Given the description of an element on the screen output the (x, y) to click on. 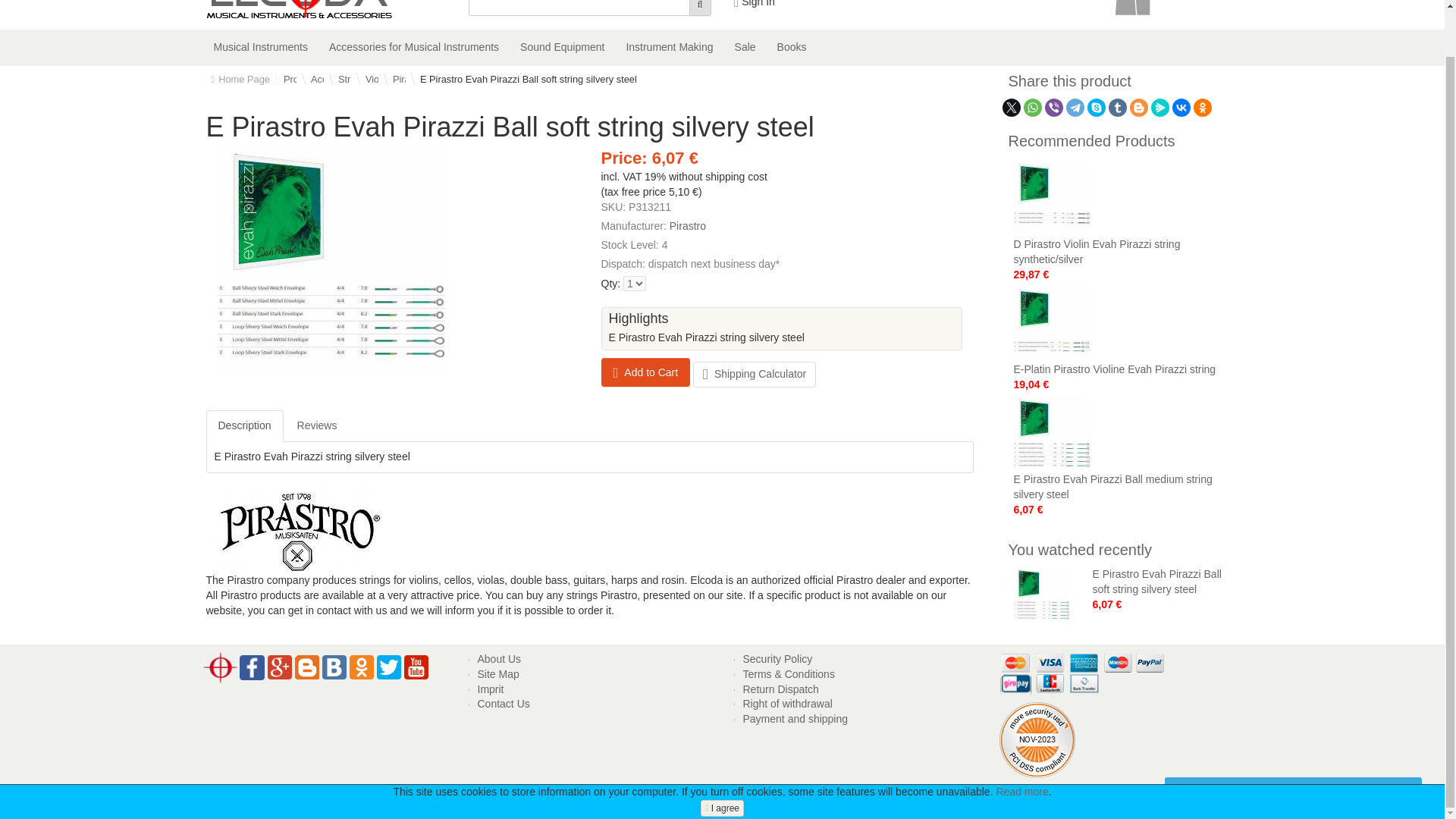
WhatsApp (1032, 107)
Blogger (1138, 107)
Skype (1096, 107)
Twitter (1011, 107)
Telegram (1074, 107)
Musical Instruments (260, 47)
Tumblr (1117, 107)
Viber (1053, 107)
